Given the description of an element on the screen output the (x, y) to click on. 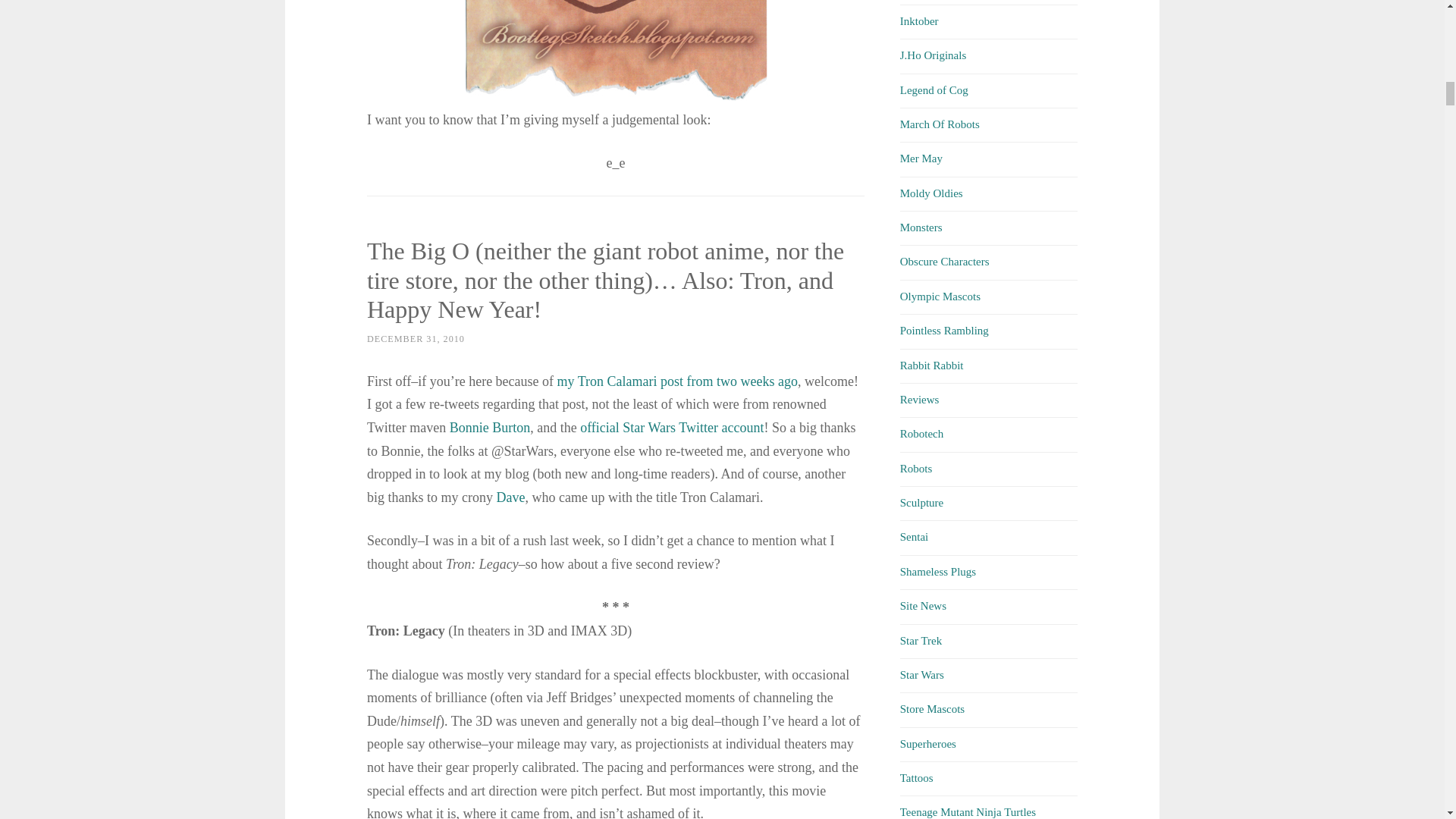
Dave (510, 497)
DECEMBER 31, 2010 (415, 338)
Bonnie Burton (490, 427)
official Star Wars Twitter account (670, 427)
my Tron Calamari post from two weeks ago (677, 381)
